Given the description of an element on the screen output the (x, y) to click on. 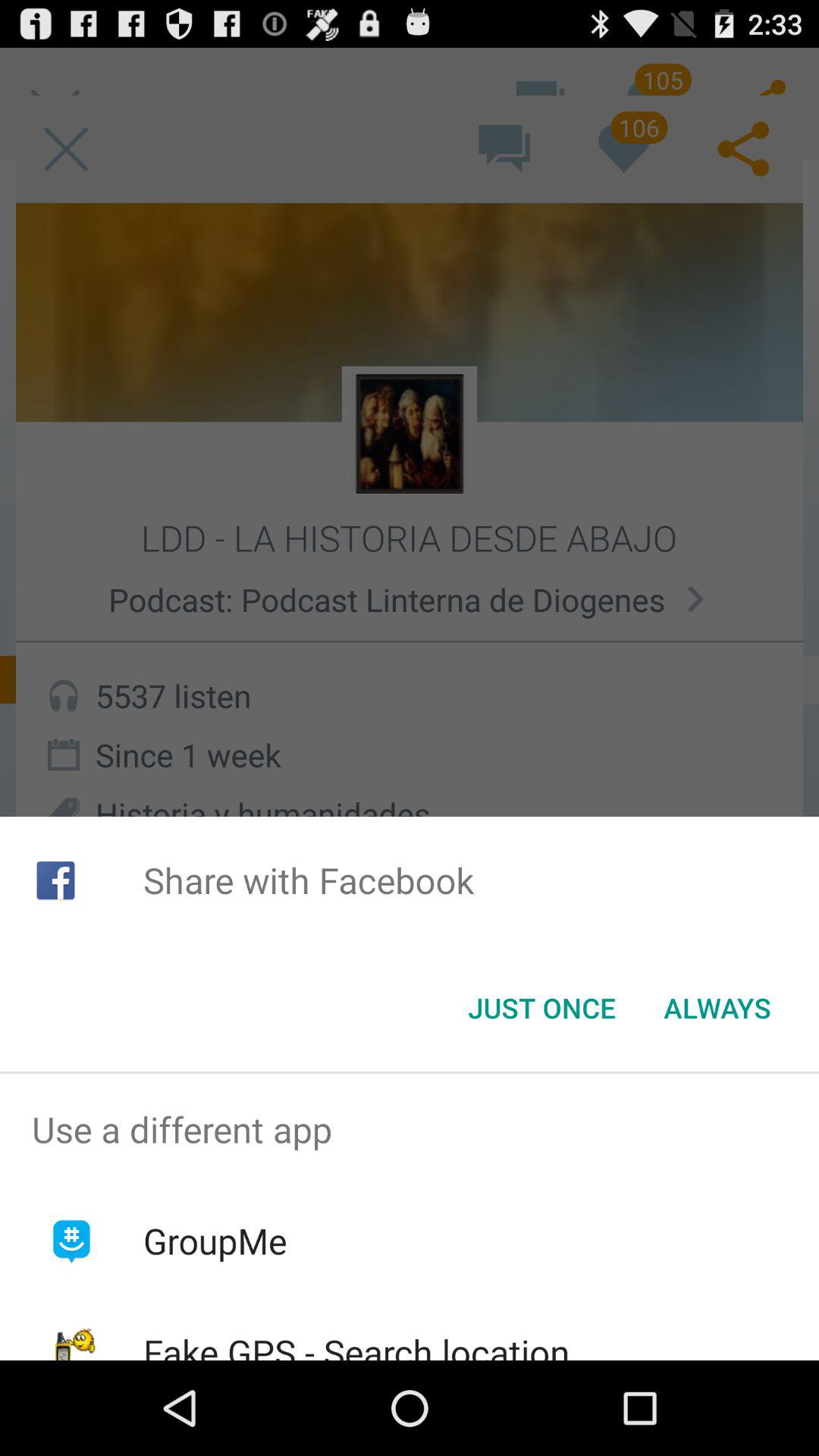
flip until the groupme app (215, 1240)
